Given the description of an element on the screen output the (x, y) to click on. 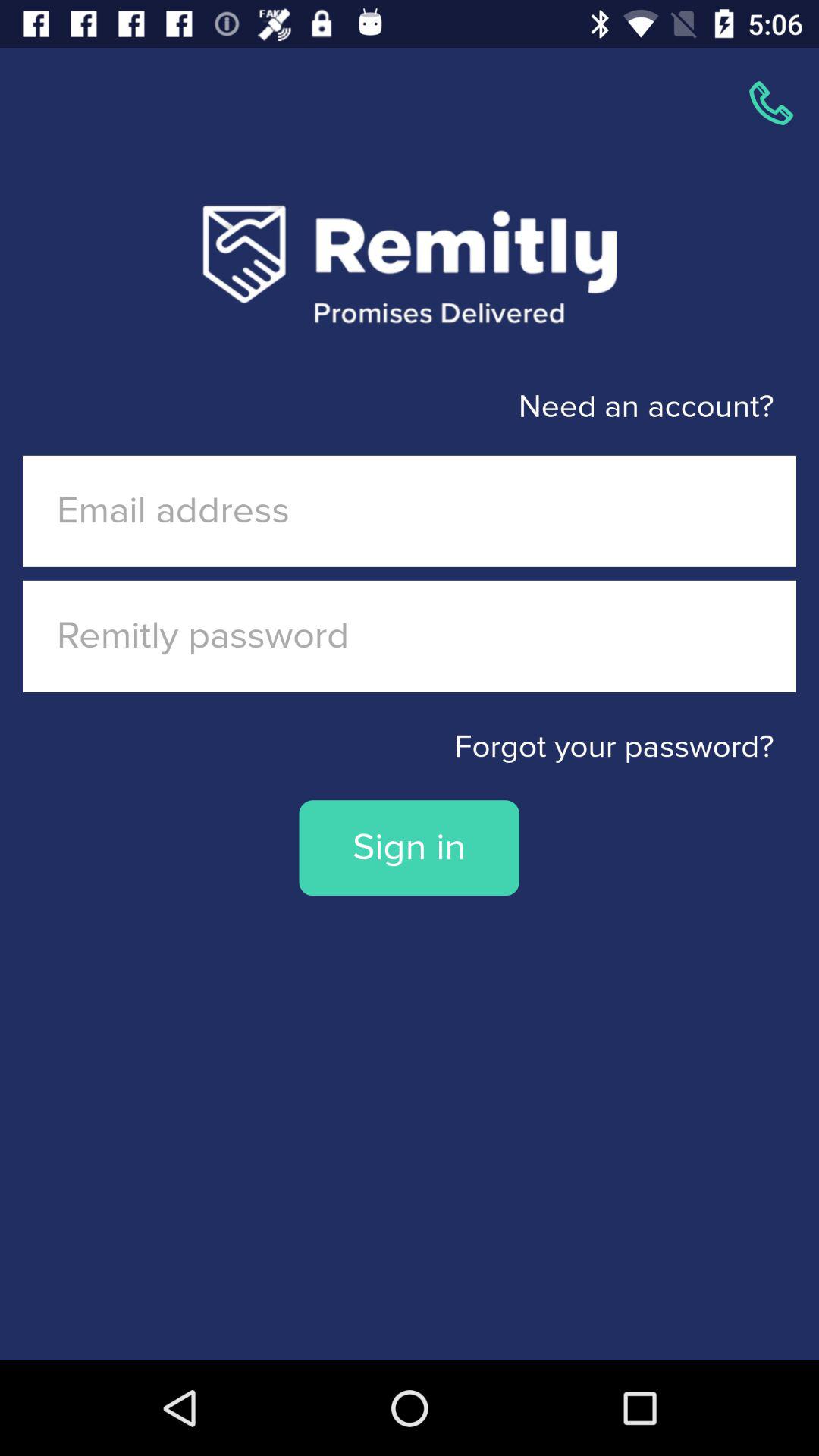
click the item above the sign in (409, 747)
